Given the description of an element on the screen output the (x, y) to click on. 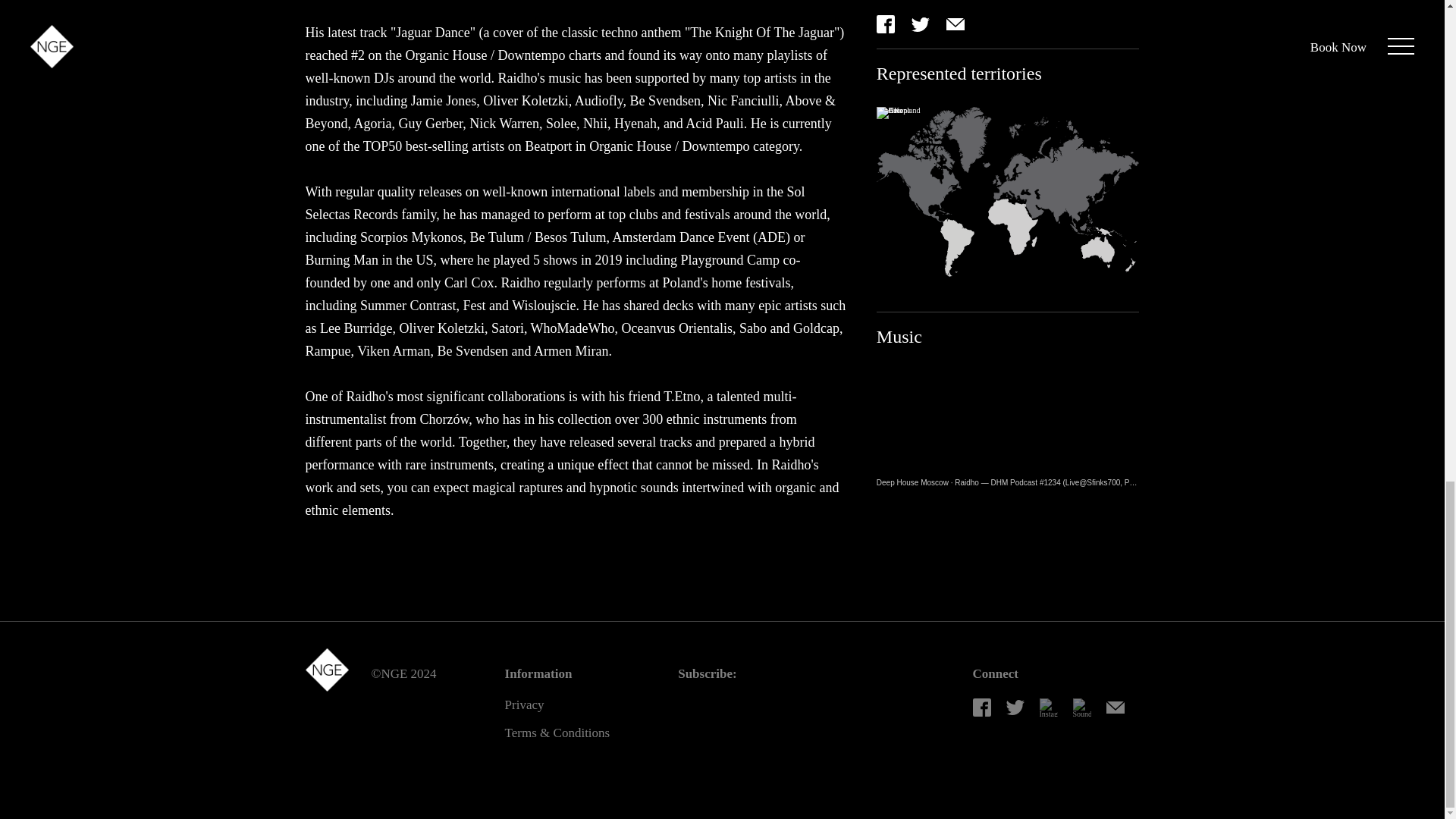
Deep House Moscow (912, 482)
Privacy (524, 704)
Deep House Moscow (912, 482)
